Given the description of an element on the screen output the (x, y) to click on. 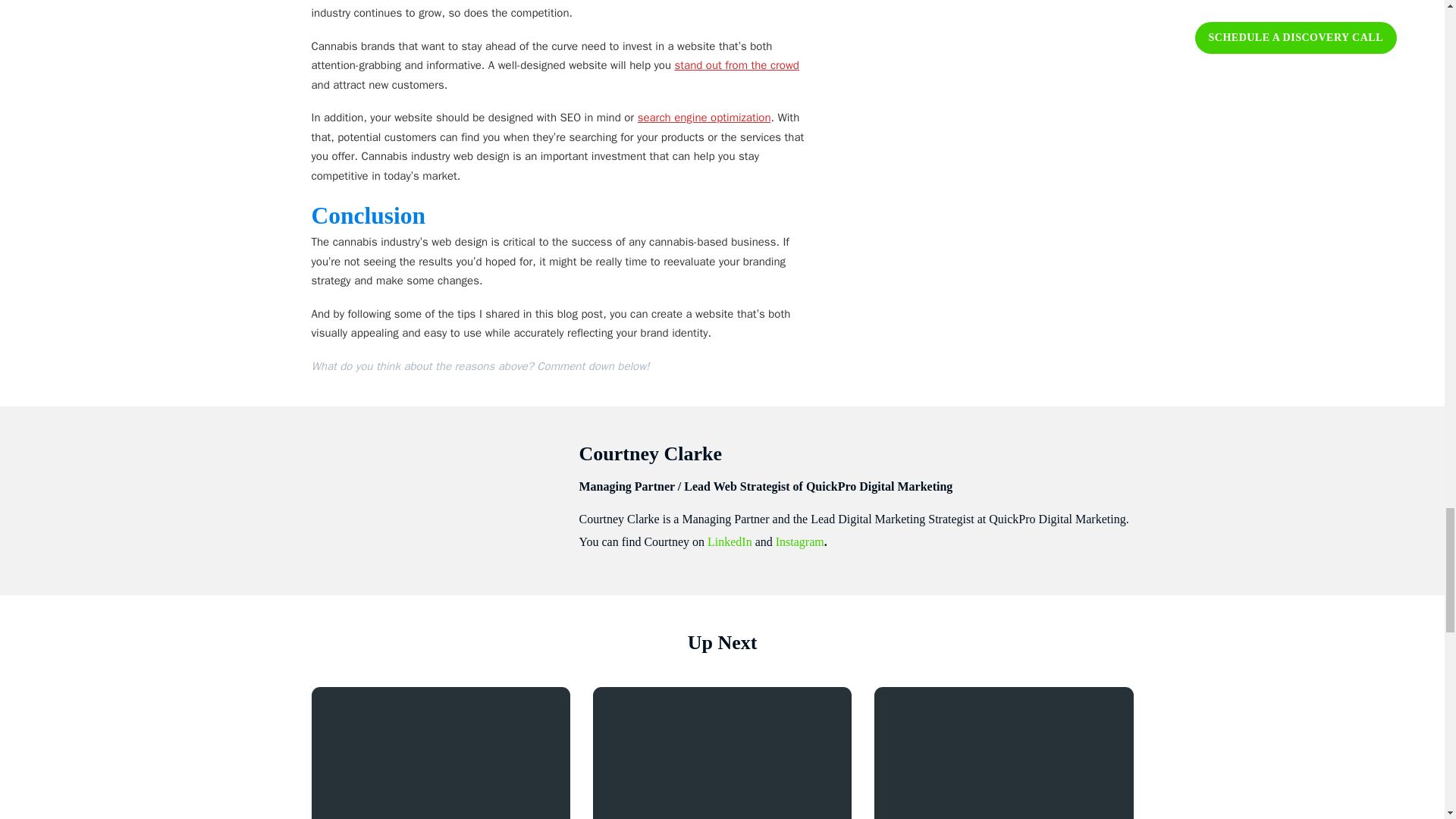
stand out from the crowd (735, 65)
search engine optimization (704, 117)
LinkedIn (729, 541)
search engine optimization (704, 117)
Instagram (800, 541)
